Given the description of an element on the screen output the (x, y) to click on. 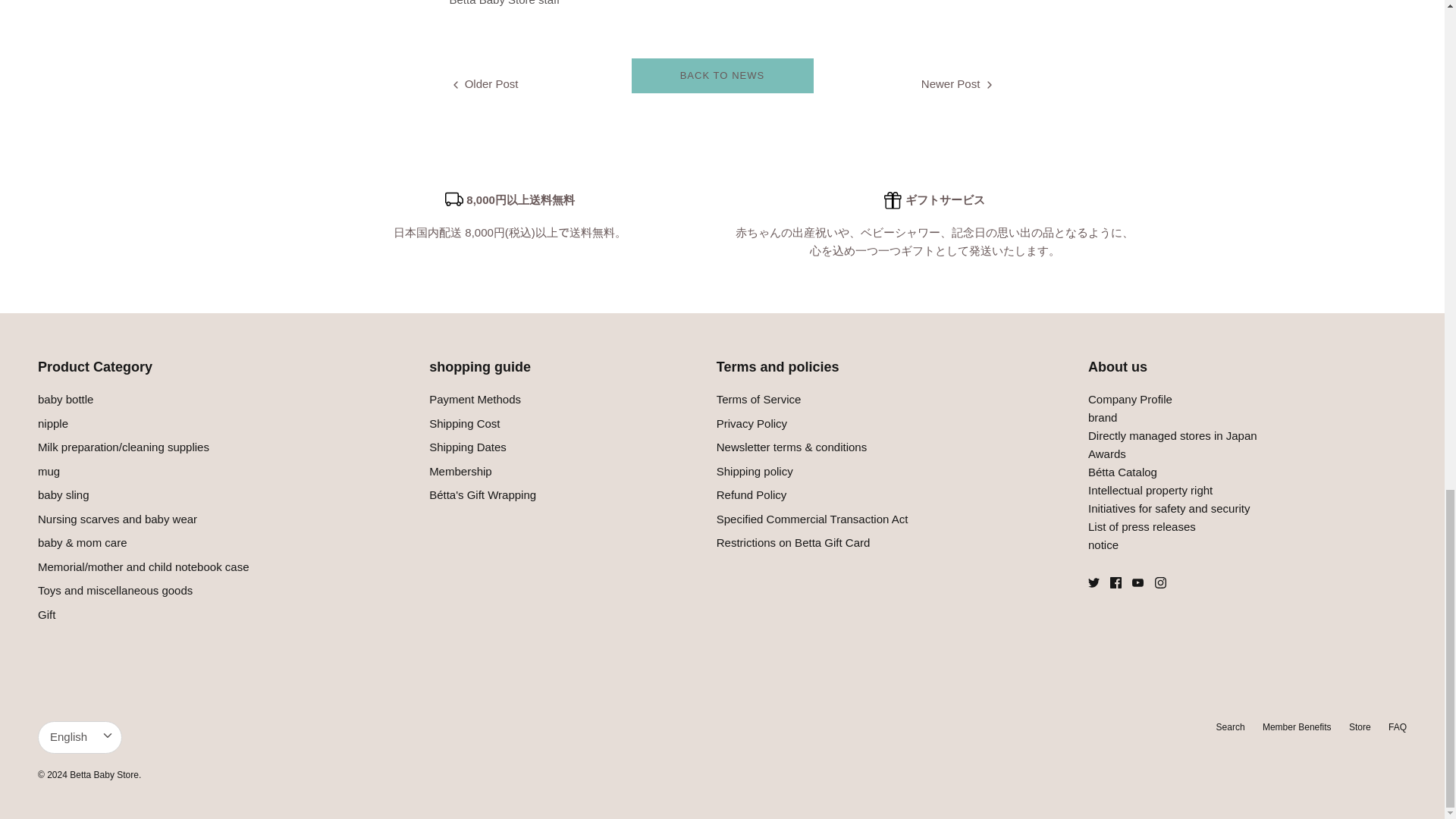
Initiatives for safety and security (1168, 508)
About the brand (1101, 417)
Right (988, 84)
List of press releases (1141, 526)
Company Profile (1129, 399)
Awards (1122, 472)
notice (1102, 544)
Directly managed stores in Japan (1172, 435)
Left (454, 84)
Awards (1106, 453)
